Given the description of an element on the screen output the (x, y) to click on. 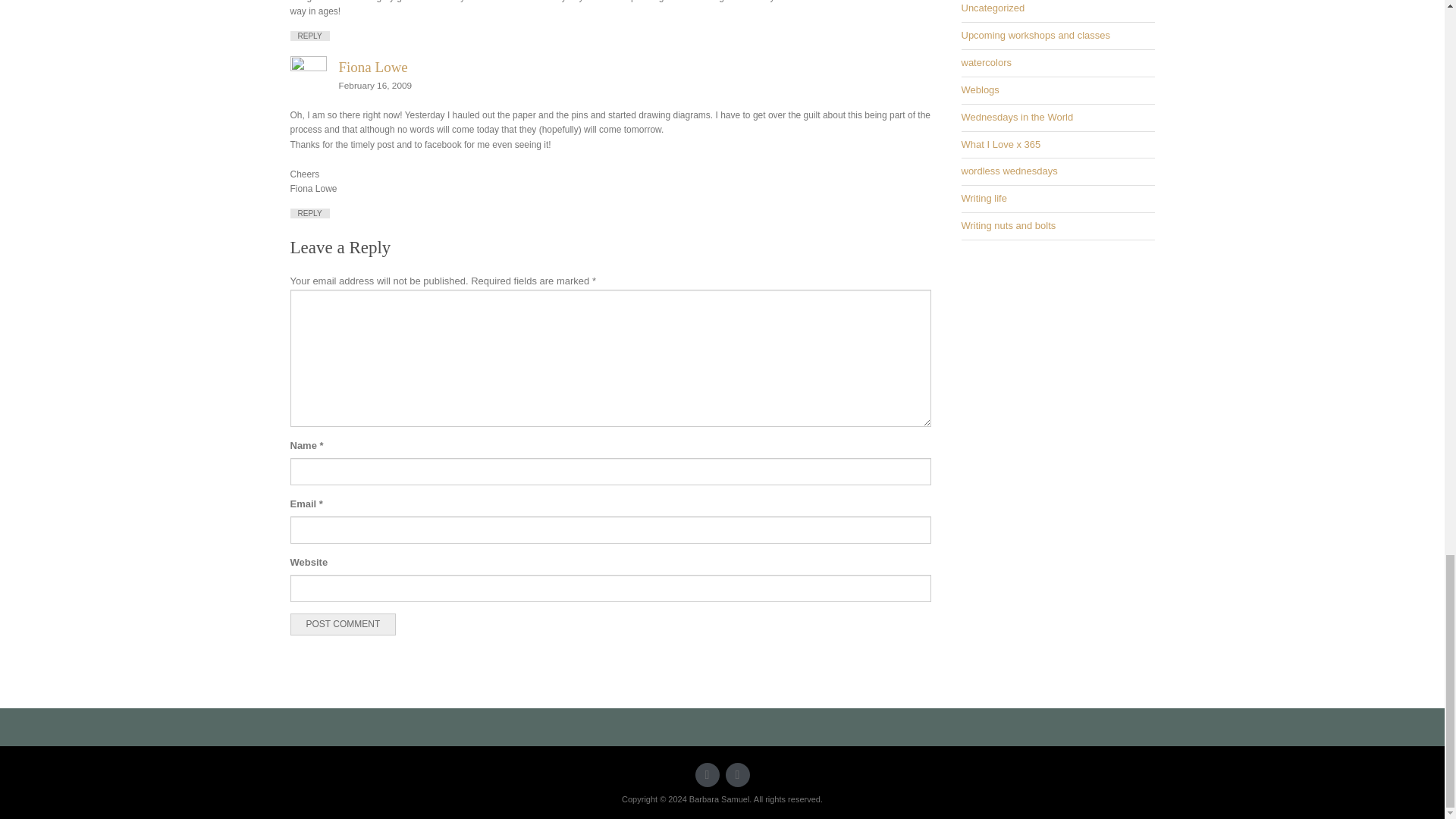
Post Comment (342, 624)
REPLY (309, 213)
REPLY (309, 35)
Post Comment (342, 624)
Twitter (706, 774)
Facebook (737, 774)
Fiona Lowe (372, 66)
